Given the description of an element on the screen output the (x, y) to click on. 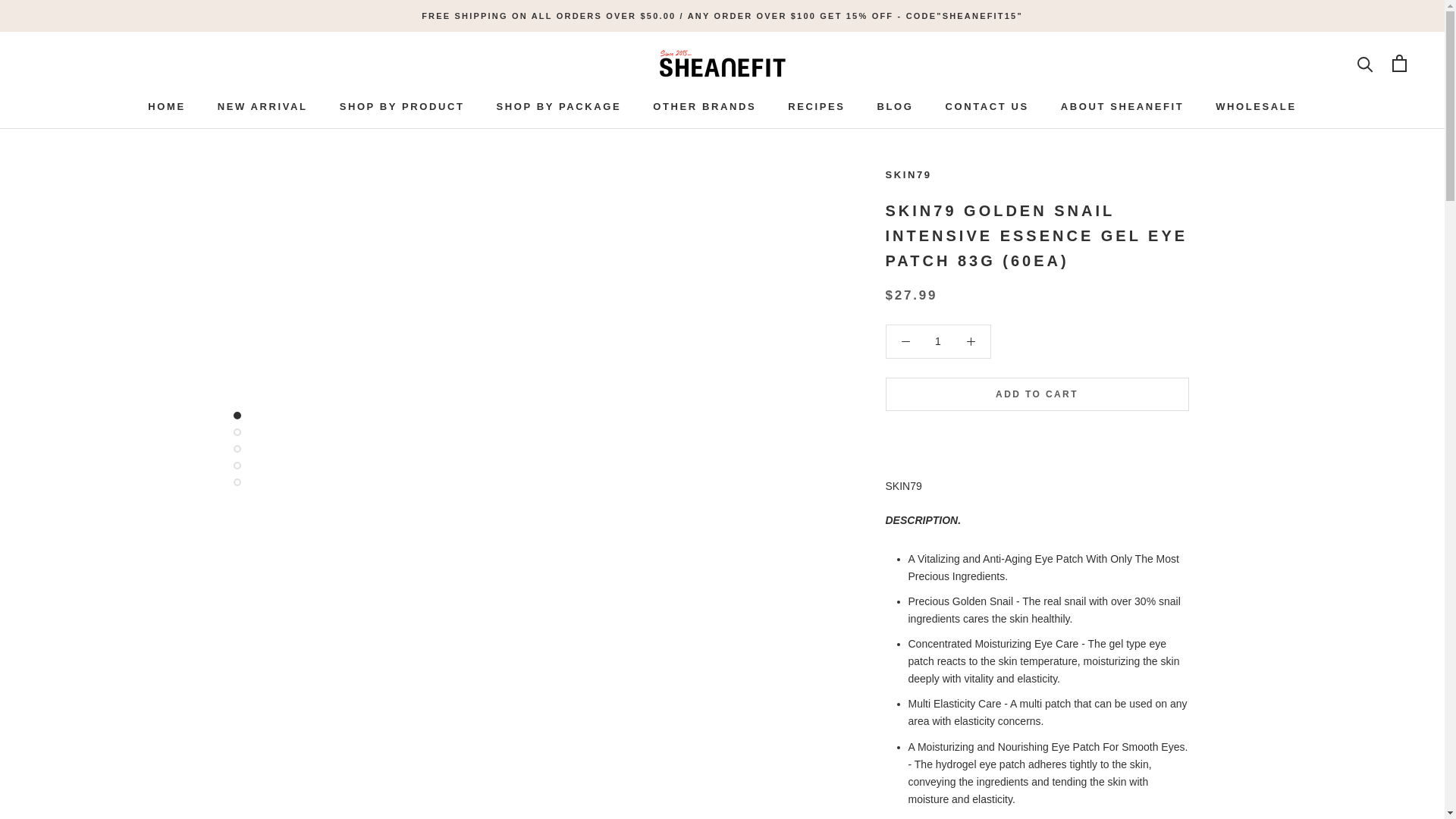
1 (938, 340)
